Given the description of an element on the screen output the (x, y) to click on. 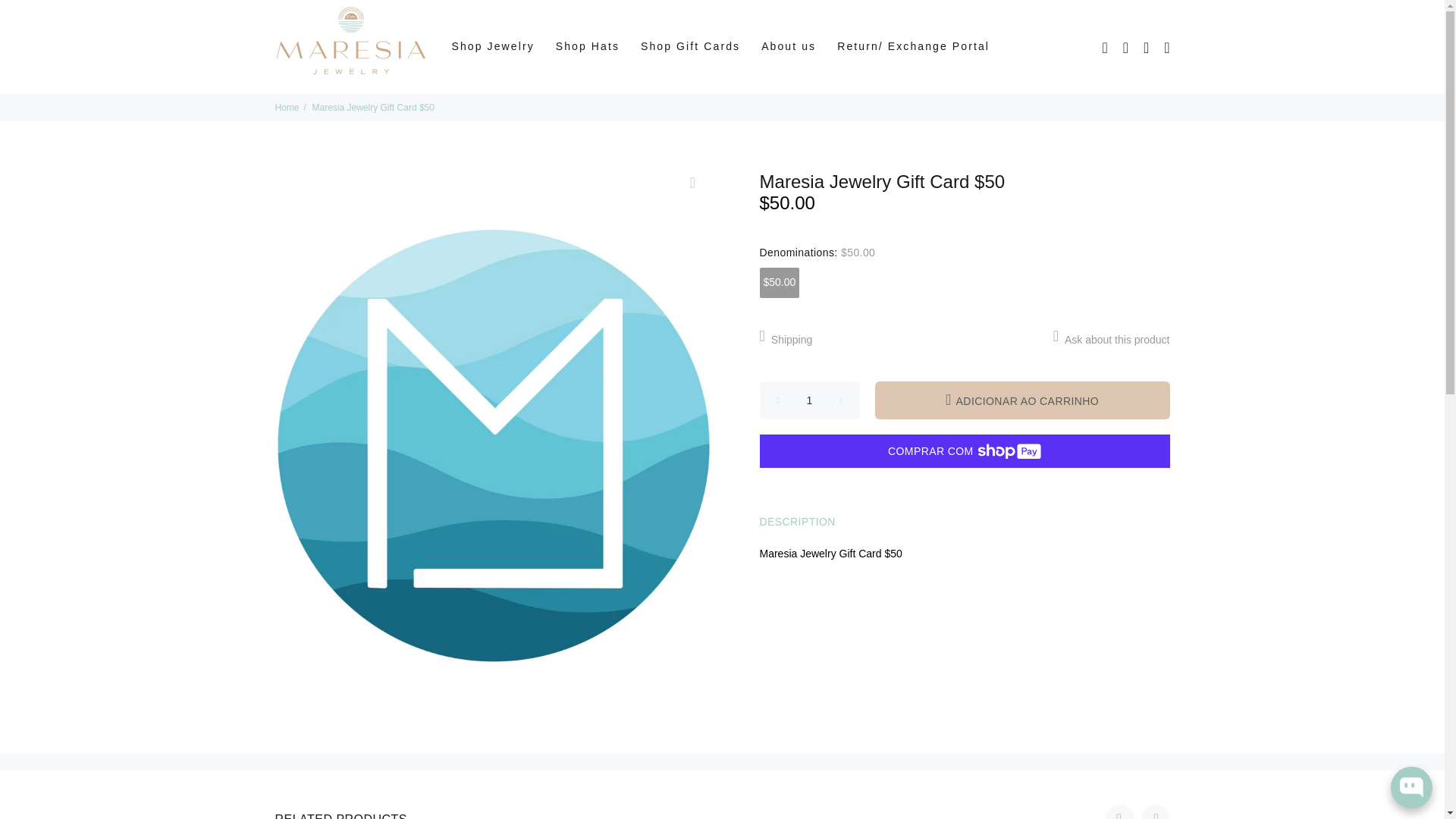
Shop Jewelry (493, 46)
1 (810, 400)
